Given the description of an element on the screen output the (x, y) to click on. 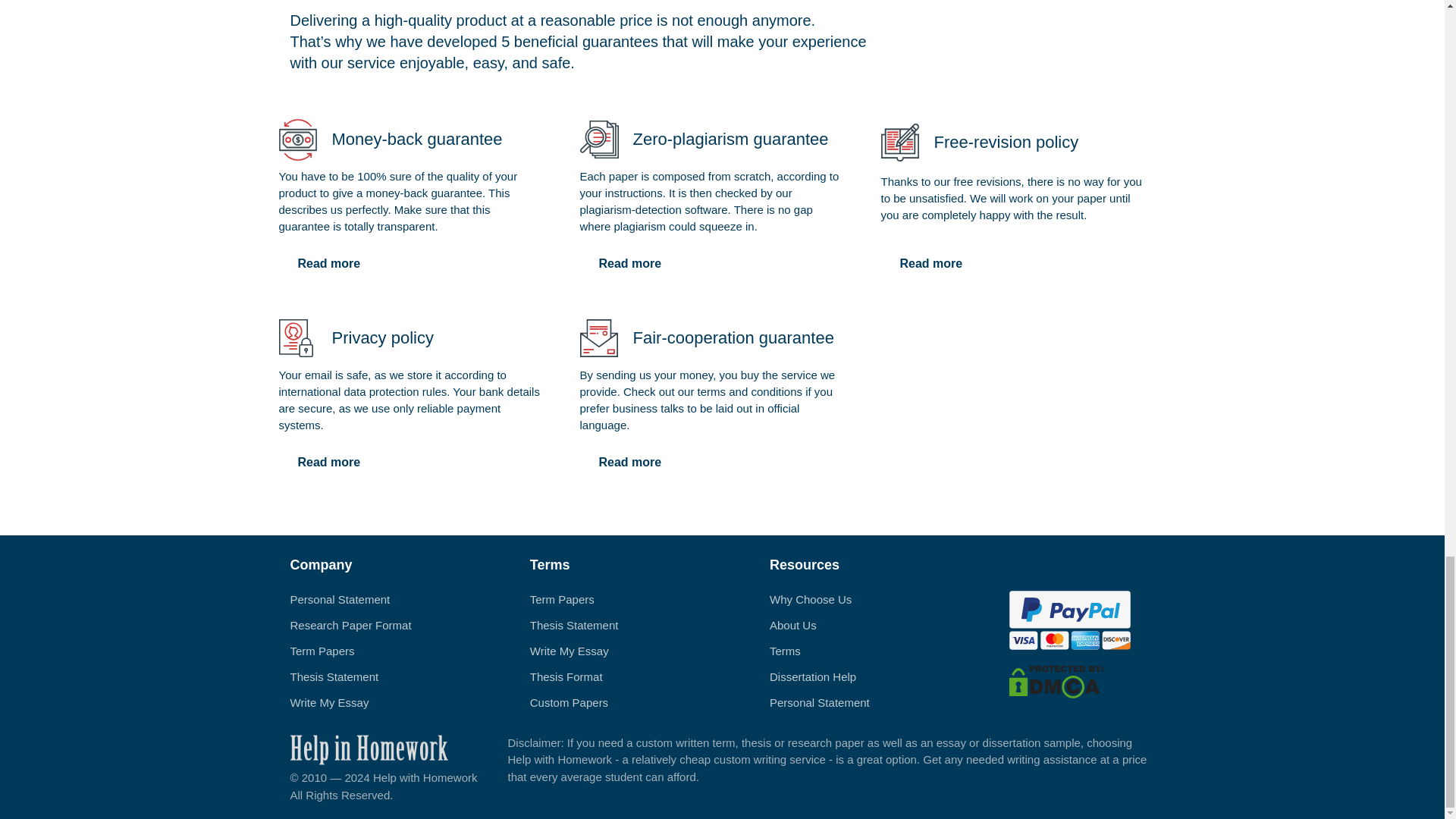
Read more (329, 462)
Read more (629, 264)
Personal Statement (339, 599)
Write My Essay (328, 702)
Read more (930, 264)
Research Paper Format (349, 625)
Thesis Statement (573, 625)
Thesis Statement (333, 676)
Read more (629, 462)
Term Papers (321, 650)
DMCA (1056, 680)
Read more (329, 264)
Term Papers (561, 599)
Write My Essay (568, 650)
